Given the description of an element on the screen output the (x, y) to click on. 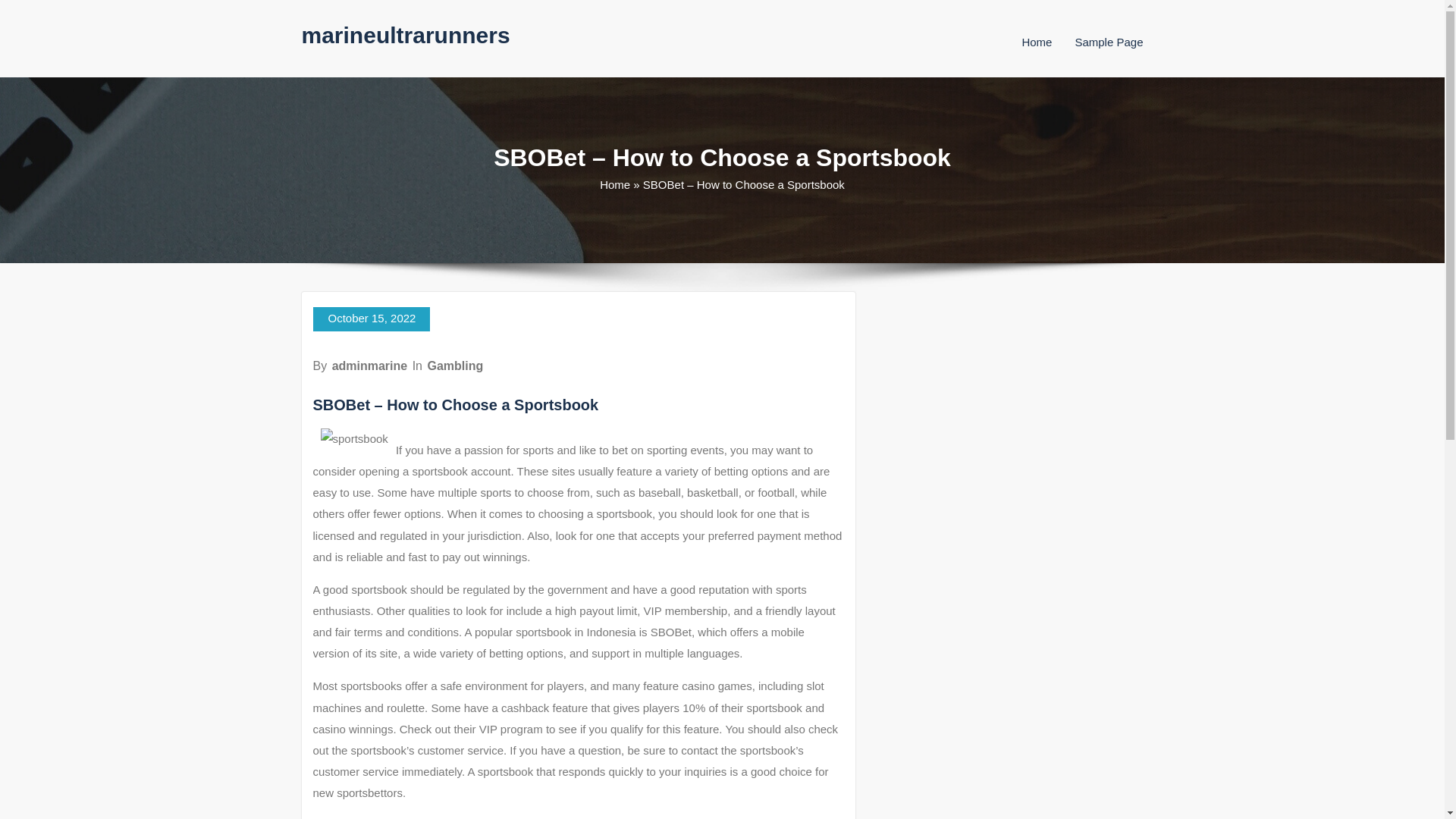
adminmarine (369, 365)
Home (614, 184)
October 15, 2022 (371, 319)
marineultrarunners (406, 34)
Home (1036, 41)
Home (1036, 41)
Sample Page (1108, 41)
Gambling (454, 365)
